Given the description of an element on the screen output the (x, y) to click on. 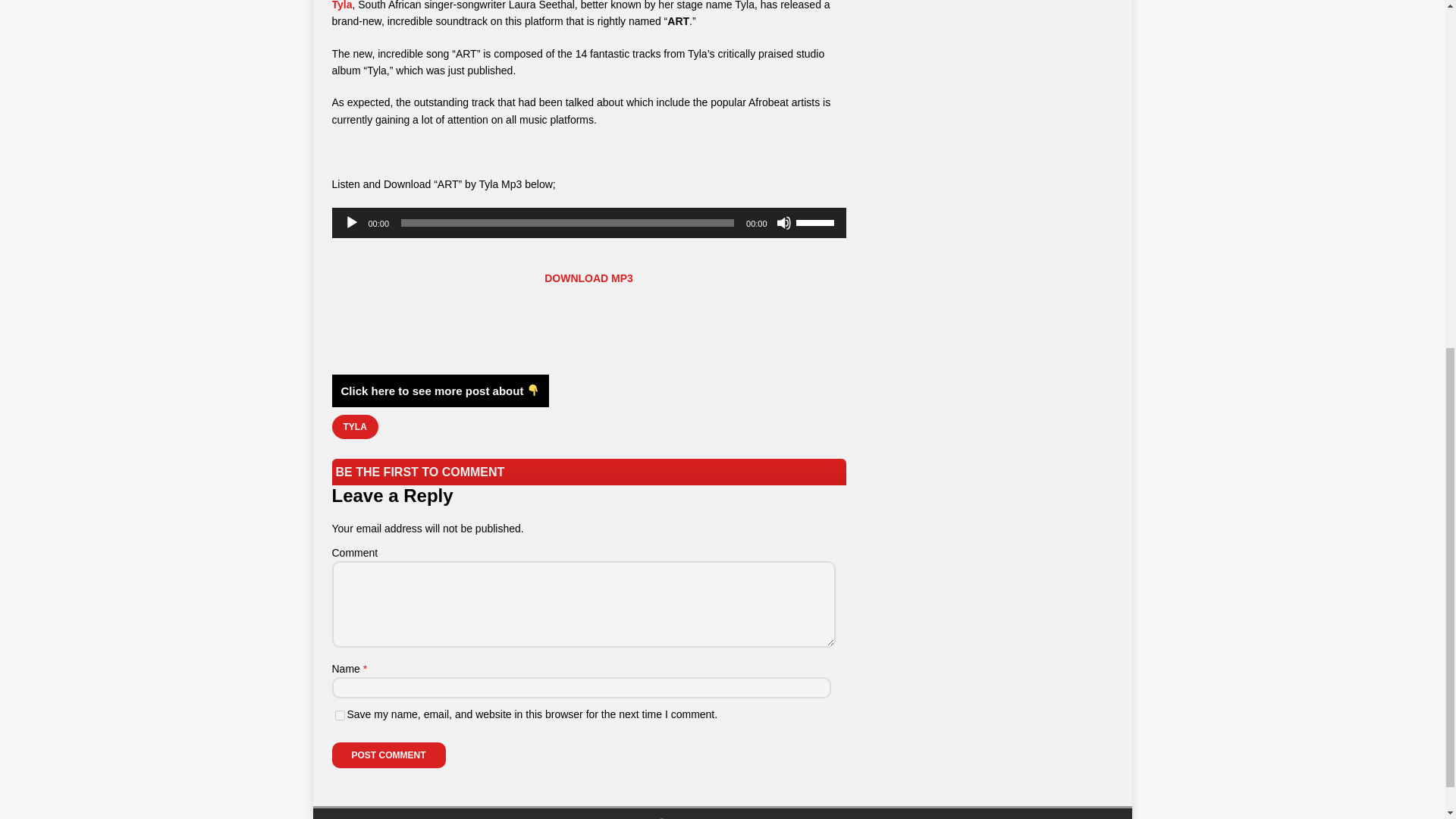
Post Comment (388, 755)
Play (351, 222)
DOWNLOAD MP3 (588, 277)
Tyla (341, 5)
Post Comment (388, 755)
yes (339, 715)
Mute (784, 222)
TYLA (354, 426)
